Given the description of an element on the screen output the (x, y) to click on. 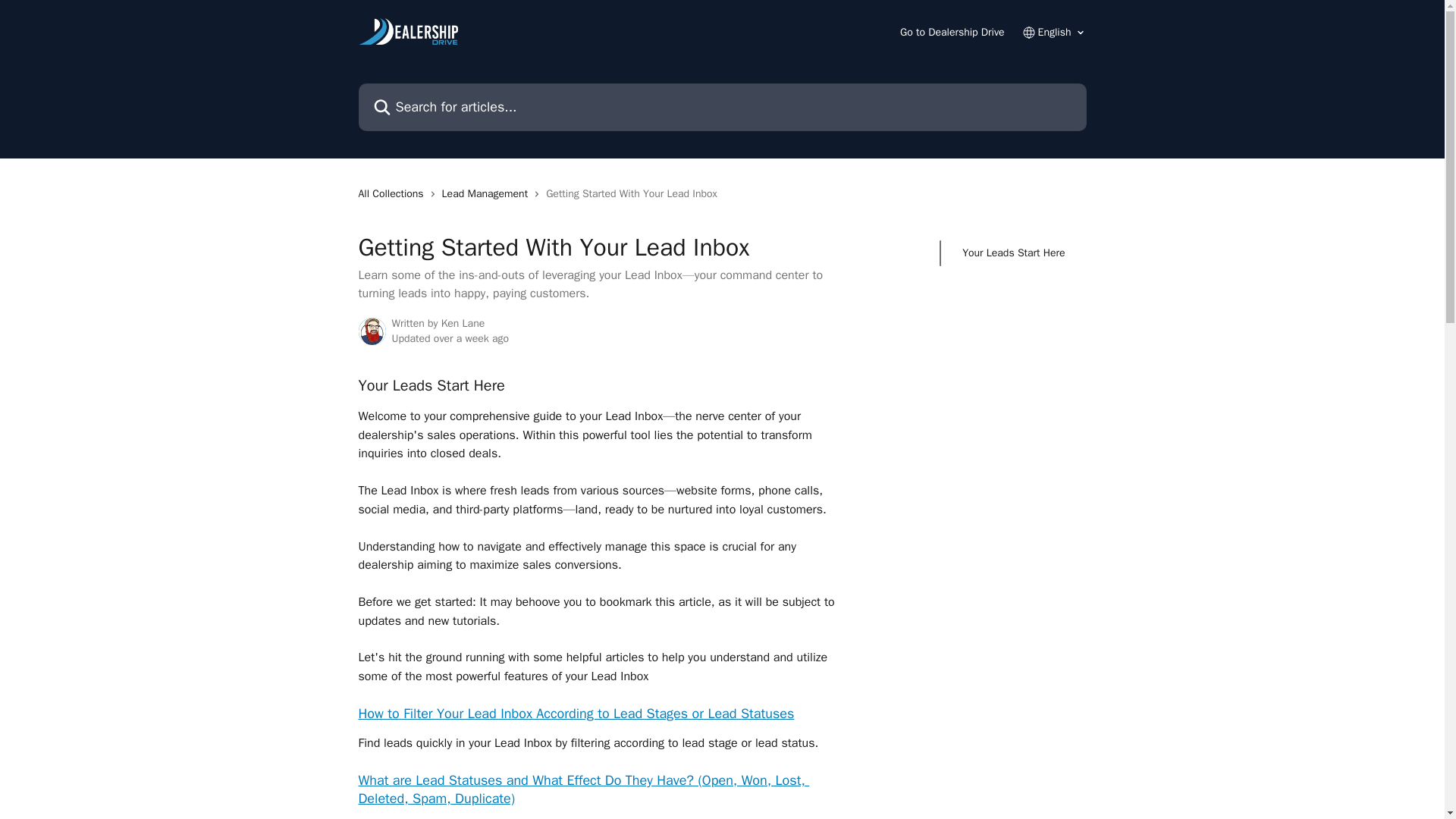
Go to Dealership Drive (951, 32)
All Collections (393, 193)
Your Leads Start Here (1013, 252)
Lead Management (488, 193)
